Given the description of an element on the screen output the (x, y) to click on. 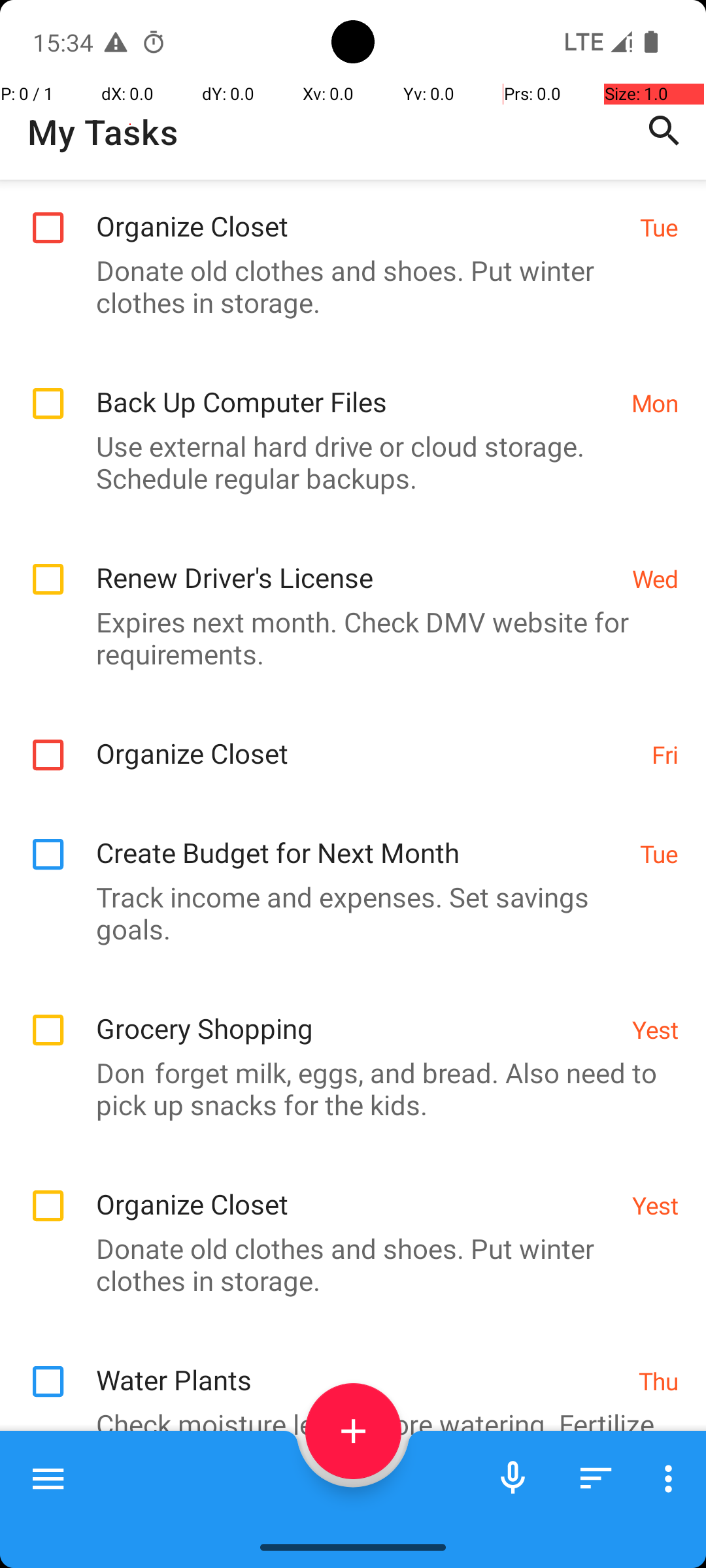
My Tasks Element type: android.widget.TextView (102, 131)
Sort Element type: android.widget.Button (595, 1478)
Organize Closet Element type: android.widget.TextView (361, 211)
Donate old clothes and shoes. Put winter clothes in storage. Element type: android.widget.TextView (346, 285)
Tue Element type: android.widget.TextView (659, 226)
Back Up Computer Files Element type: android.widget.TextView (356, 387)
Use external hard drive or cloud storage. Schedule regular backups. Element type: android.widget.TextView (346, 461)
Mon Element type: android.widget.TextView (654, 402)
Renew Driver's License Element type: android.widget.TextView (357, 563)
Expires next month. Check DMV website for requirements. Element type: android.widget.TextView (346, 637)
Wed Element type: android.widget.TextView (655, 578)
Fri Element type: android.widget.TextView (665, 753)
Create Budget for Next Month Element type: android.widget.TextView (361, 838)
Track income and expenses. Set savings goals. Element type: android.widget.TextView (346, 912)
Grocery Shopping Element type: android.widget.TextView (357, 1013)
Don	 forget milk, eggs, and bread. Also need to pick up snacks for the kids. Element type: android.widget.TextView (346, 1088)
Yest Element type: android.widget.TextView (655, 1028)
Water Plants Element type: android.widget.TextView (360, 1365)
Check moisture level before watering. Fertilize succulents. Element type: android.widget.TextView (346, 1439)
Thu Element type: android.widget.TextView (658, 1380)
